Given the description of an element on the screen output the (x, y) to click on. 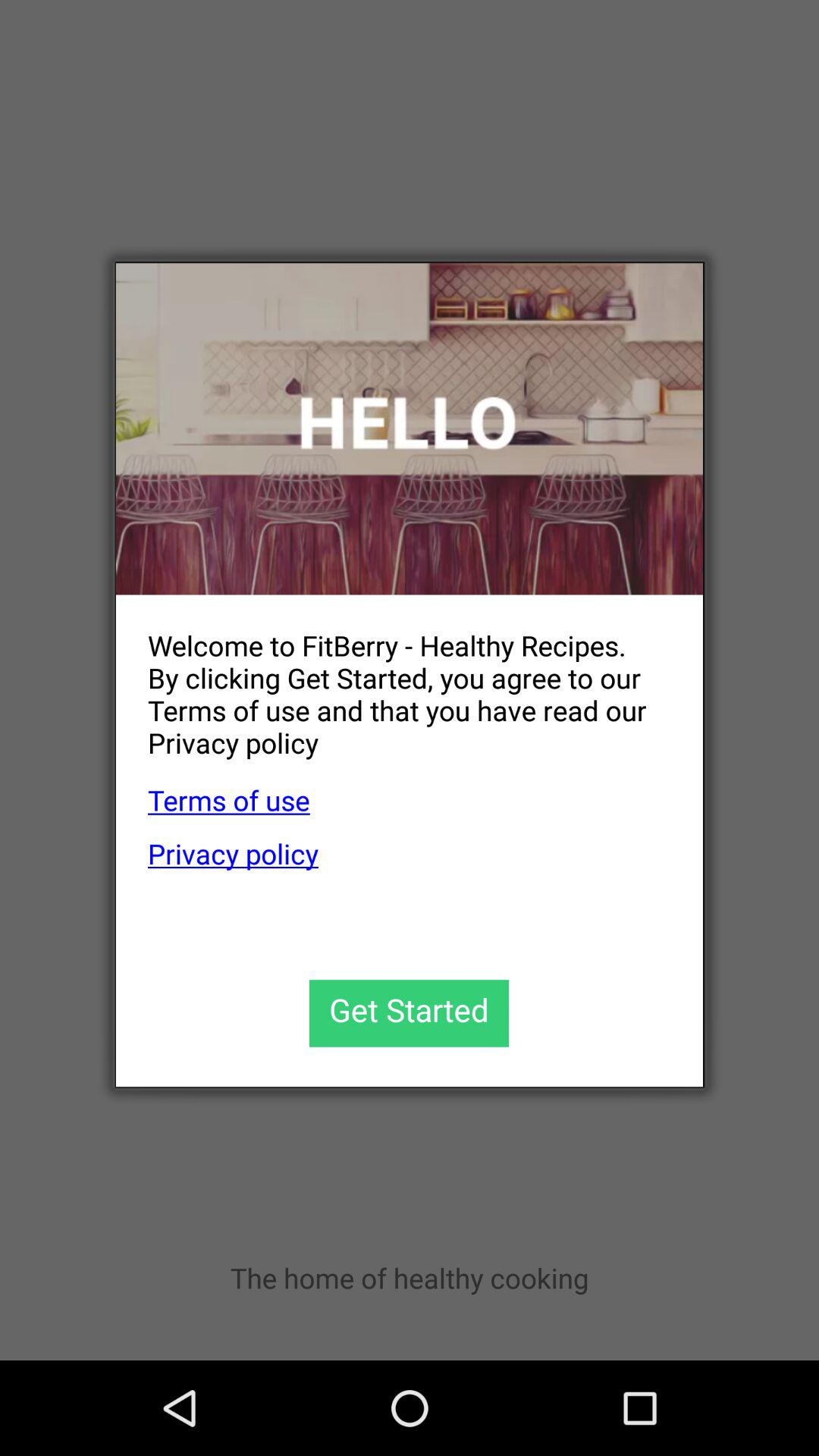
open the item above the terms of use icon (393, 681)
